Given the description of an element on the screen output the (x, y) to click on. 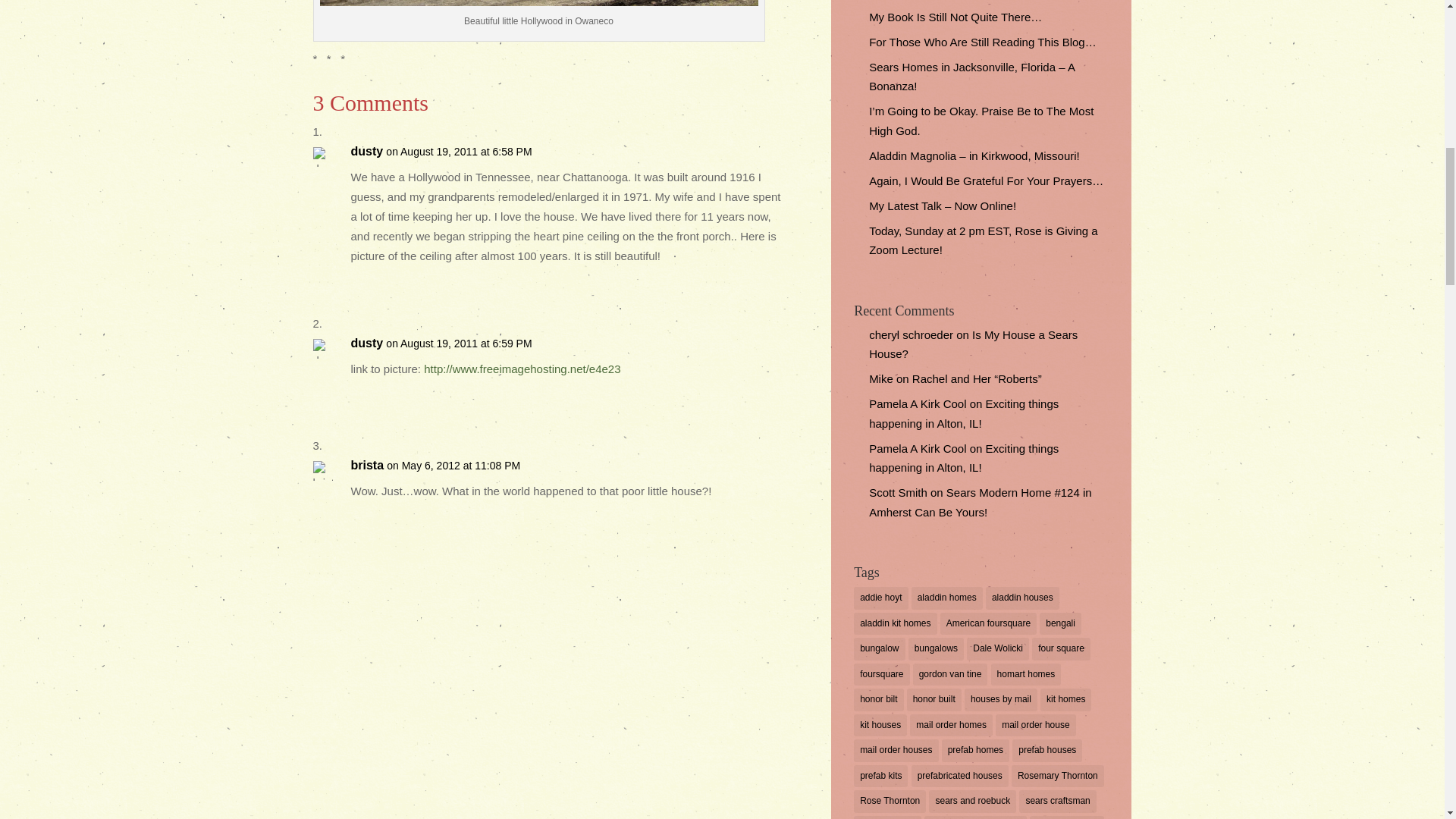
Exciting things happening in Alton, IL! (963, 458)
addie hoyt (880, 598)
aladdin kit homes (894, 623)
aladdin houses (1022, 598)
Is My House a Sears House? (973, 344)
Exciting things happening in Alton, IL! (963, 413)
aladdin homes (946, 598)
Today, Sunday at 2 pm EST, Rose is Giving a Zoom Lecture! (983, 240)
